Given the description of an element on the screen output the (x, y) to click on. 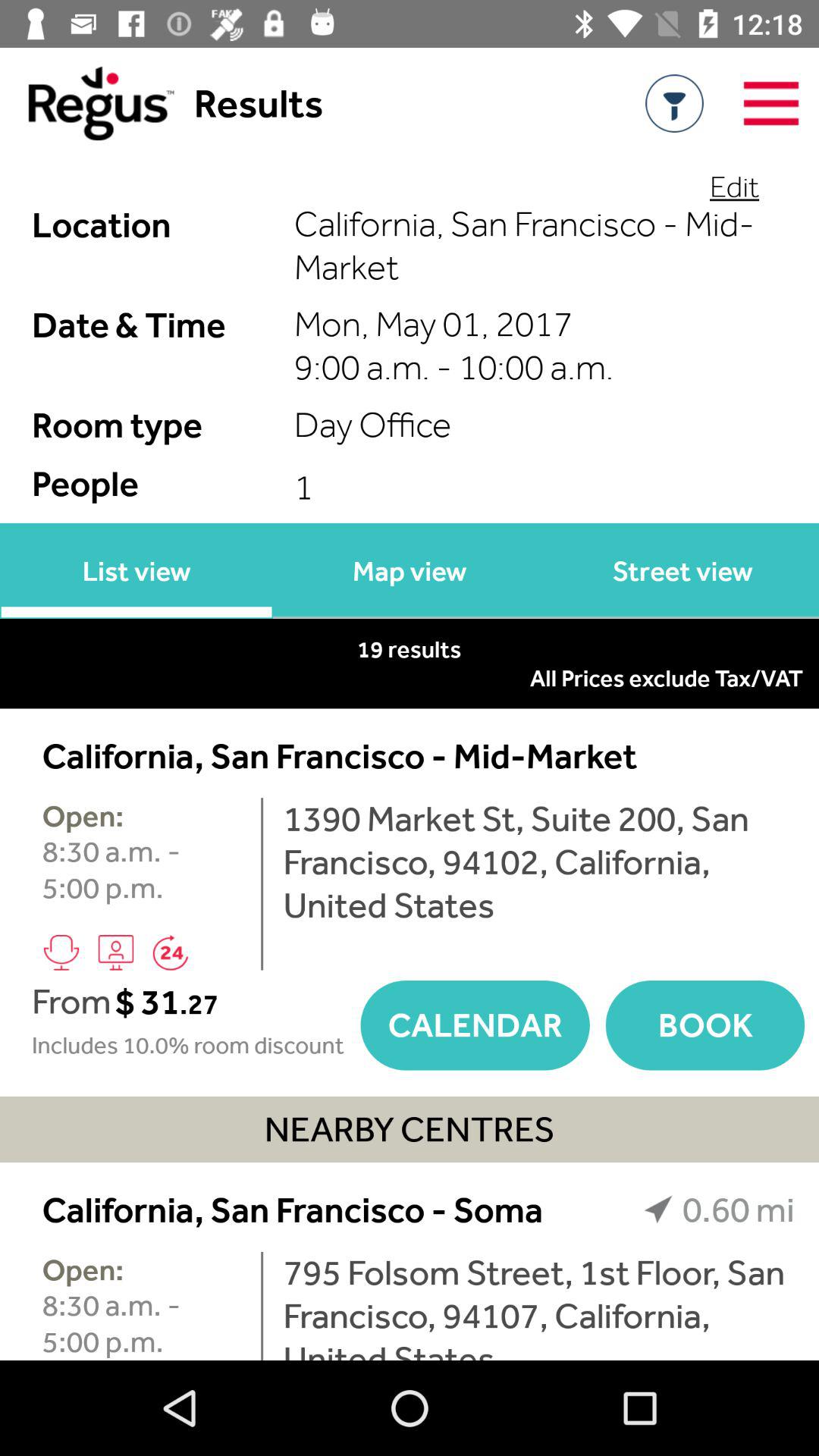
tap icon next to book icon (474, 1025)
